Given the description of an element on the screen output the (x, y) to click on. 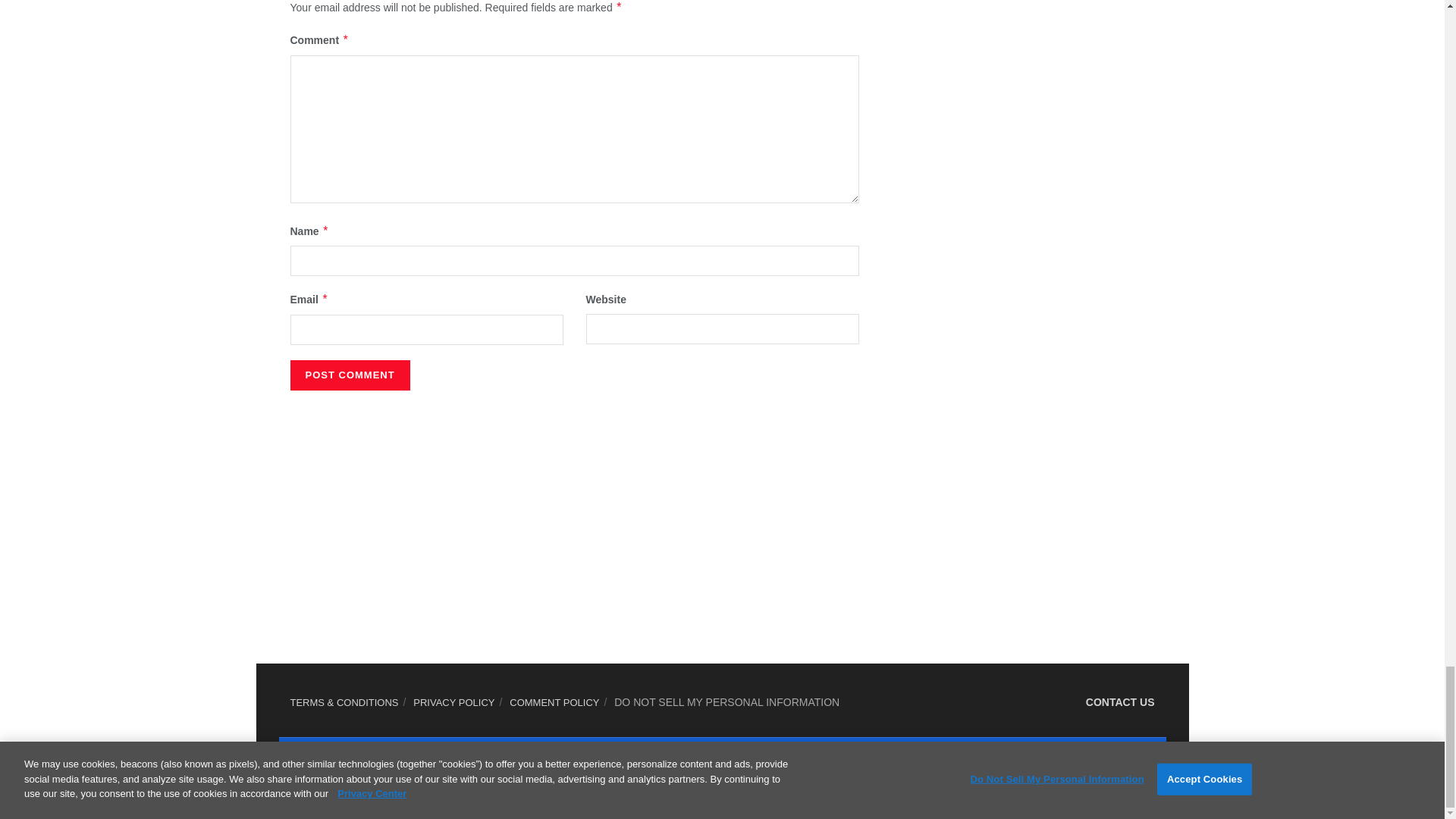
Post Comment (349, 375)
